Given the description of an element on the screen output the (x, y) to click on. 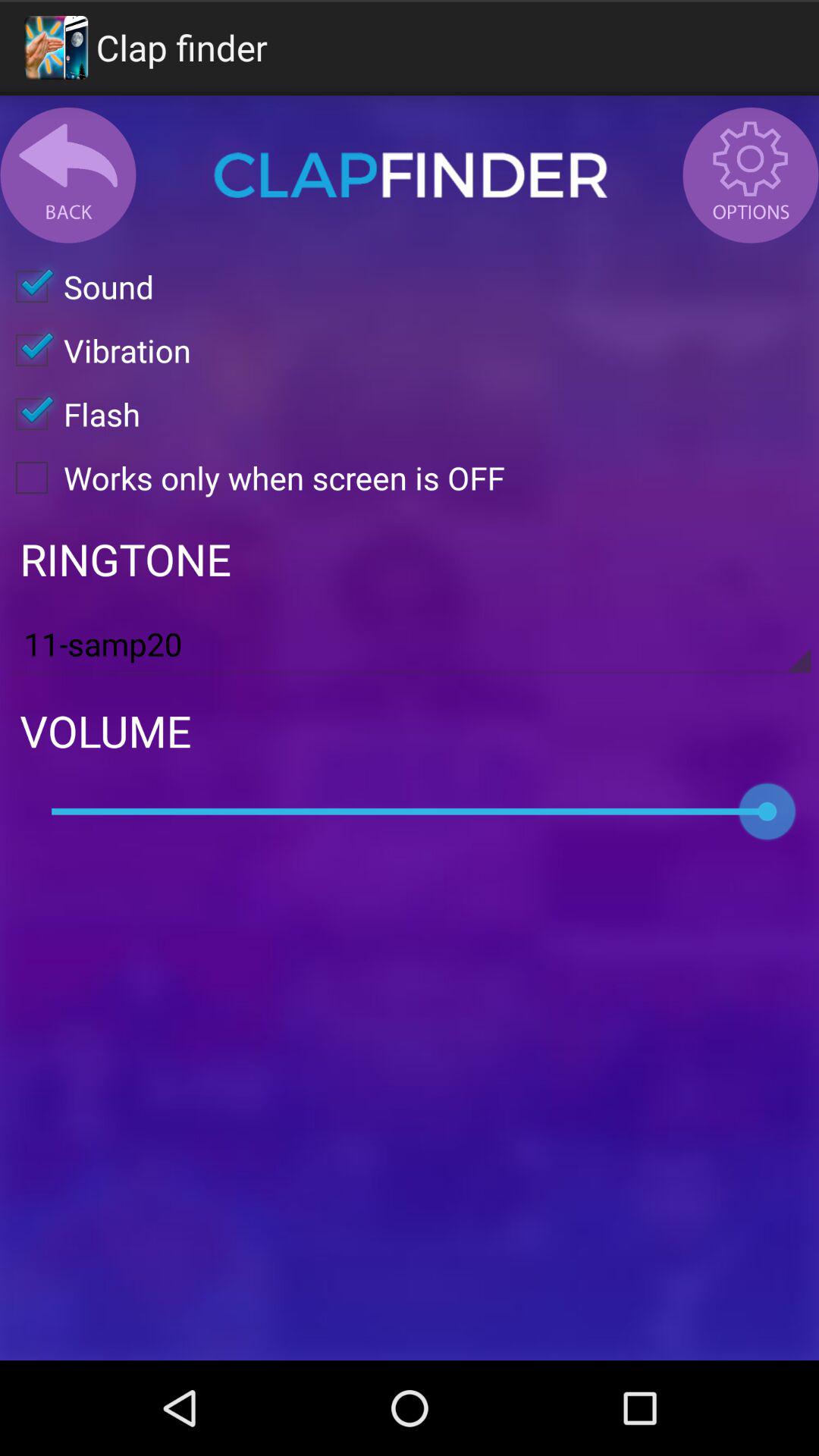
turn off sound icon (77, 286)
